Given the description of an element on the screen output the (x, y) to click on. 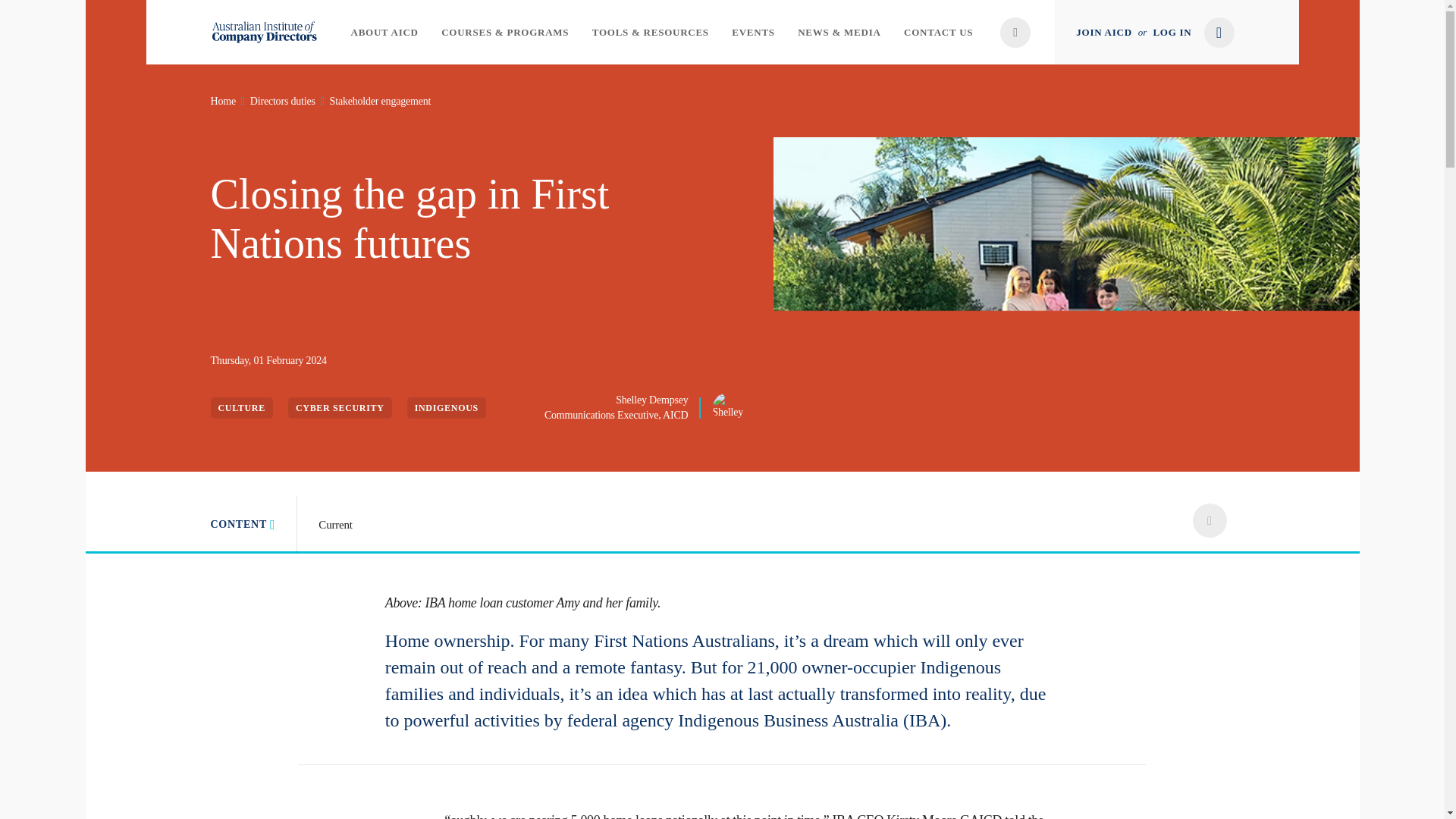
social share icons (1208, 520)
ABOUT AICD (383, 32)
